Given the description of an element on the screen output the (x, y) to click on. 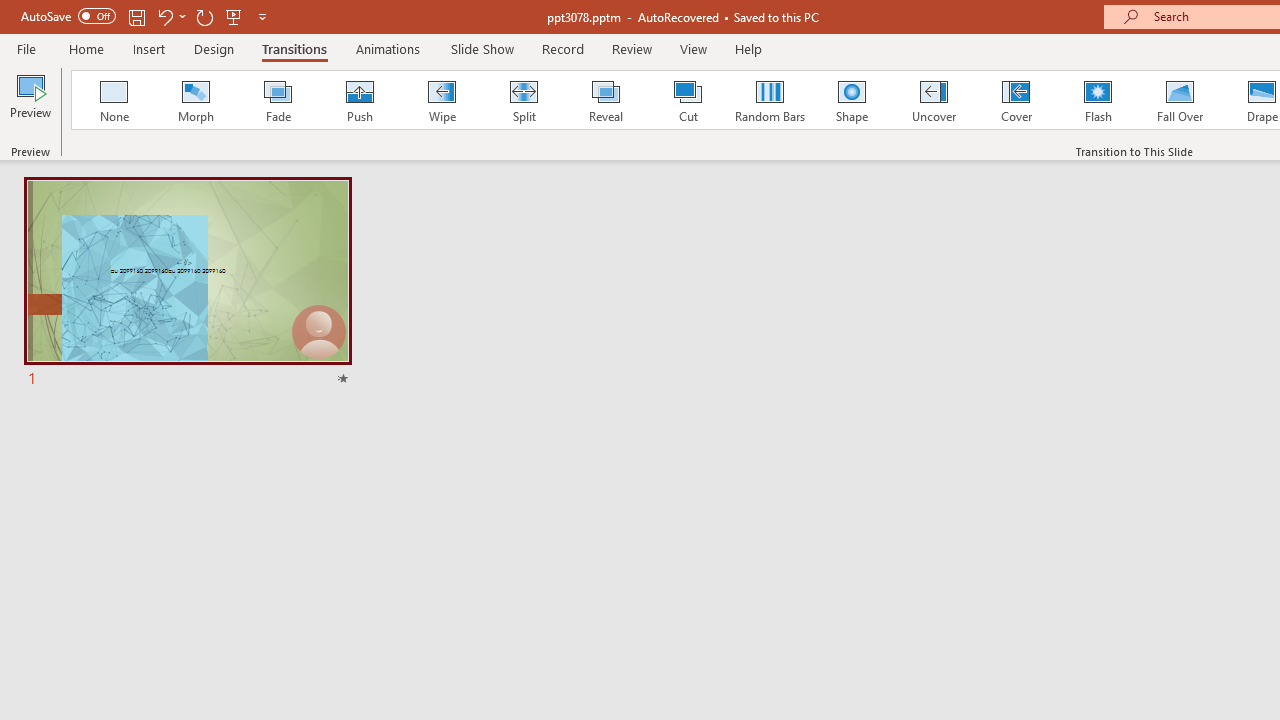
Split (523, 100)
Uncover (934, 100)
Fall Over (1180, 100)
Cover (1016, 100)
Wipe (441, 100)
Random Bars (770, 100)
